Given the description of an element on the screen output the (x, y) to click on. 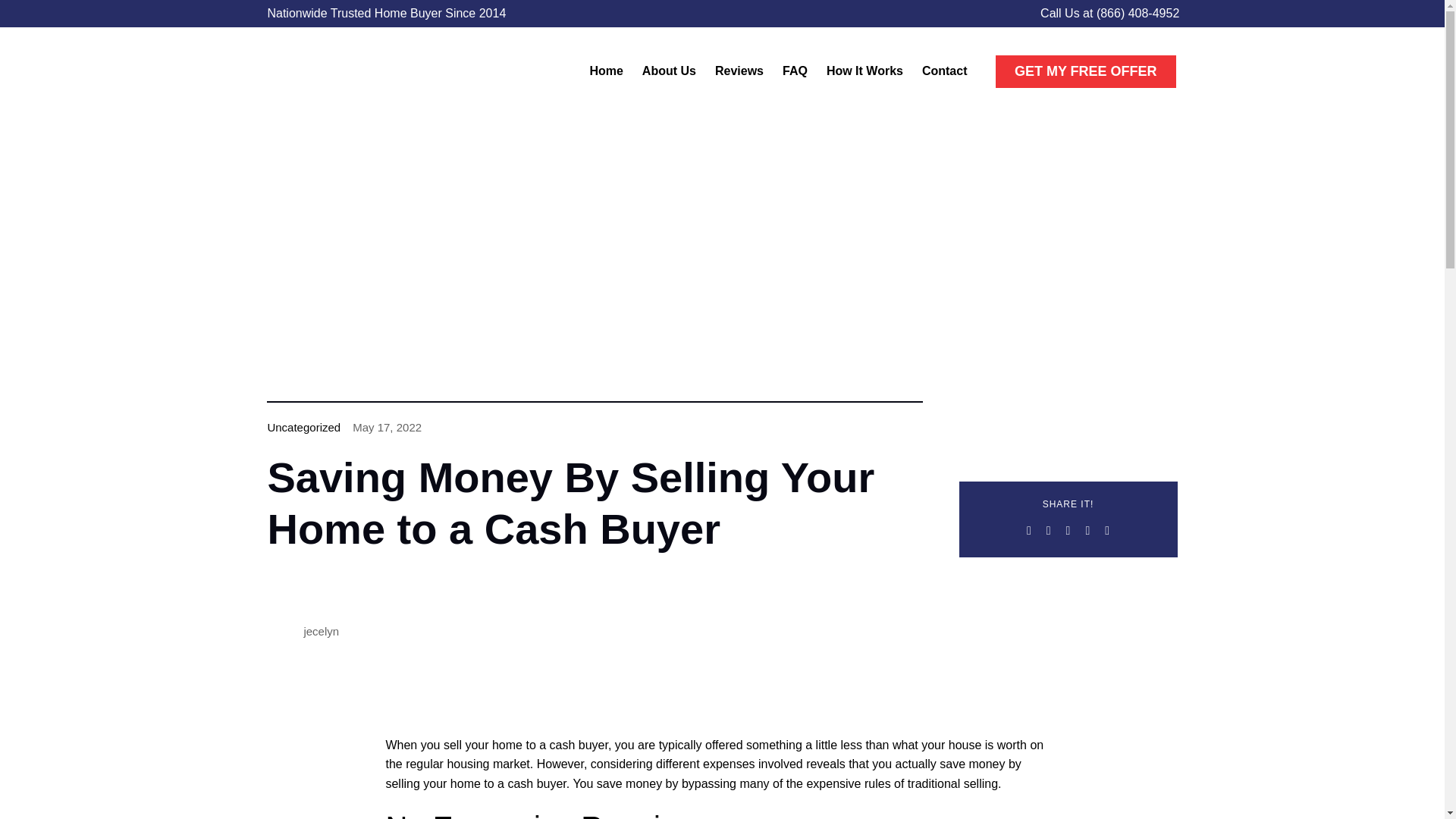
Reviews (738, 71)
Pinterest (1106, 530)
X (1048, 530)
Uncategorized (303, 427)
Contact (944, 71)
GET MY FREE OFFER (1085, 70)
LinkedIn (1087, 530)
Facebook (1029, 530)
Uncategorized (303, 427)
How It Works (864, 71)
